Given the description of an element on the screen output the (x, y) to click on. 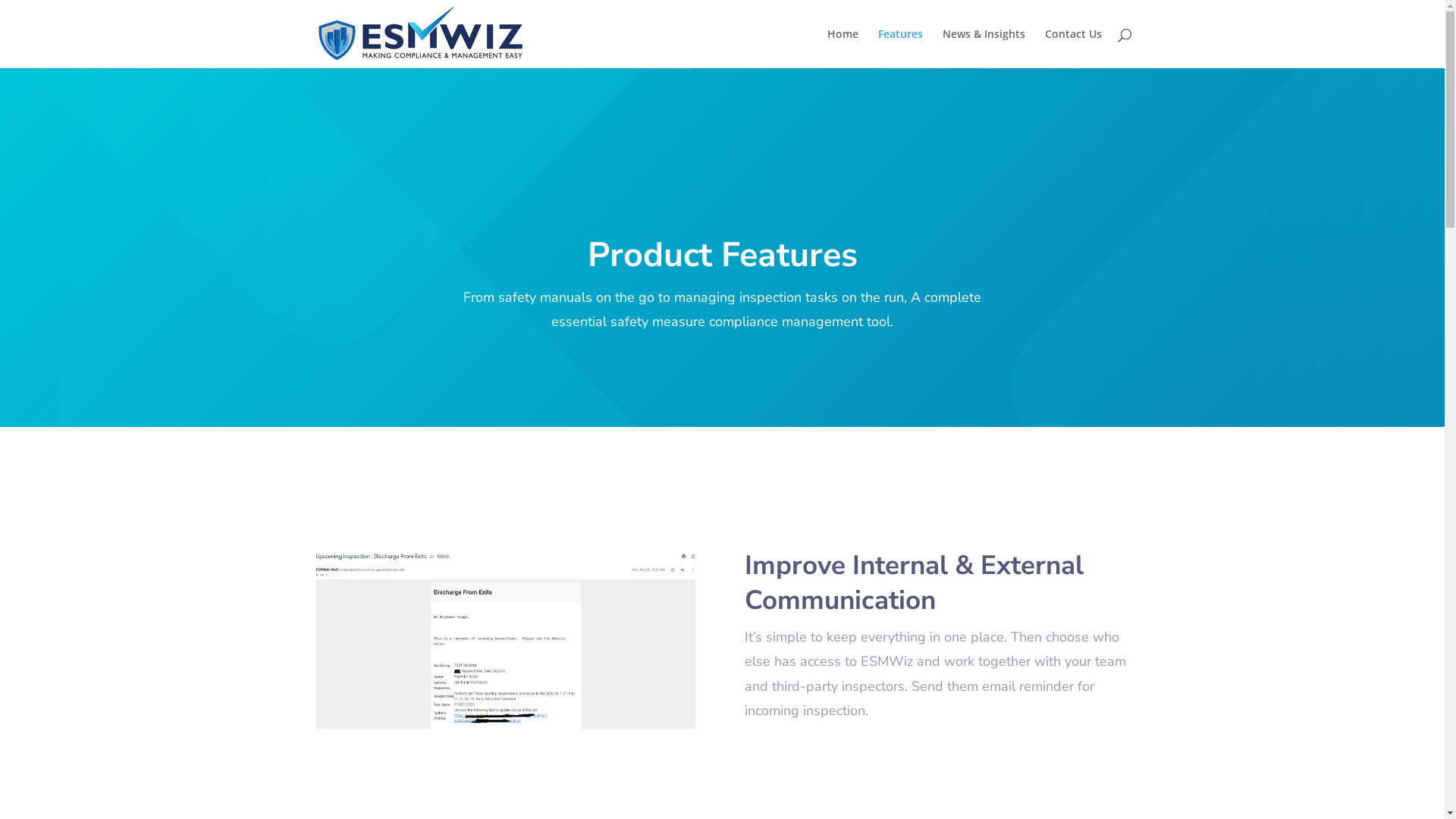
News & Insights Element type: text (982, 48)
Features Element type: text (900, 48)
Contact Us Element type: text (1072, 48)
Home Element type: text (841, 48)
